Given the description of an element on the screen output the (x, y) to click on. 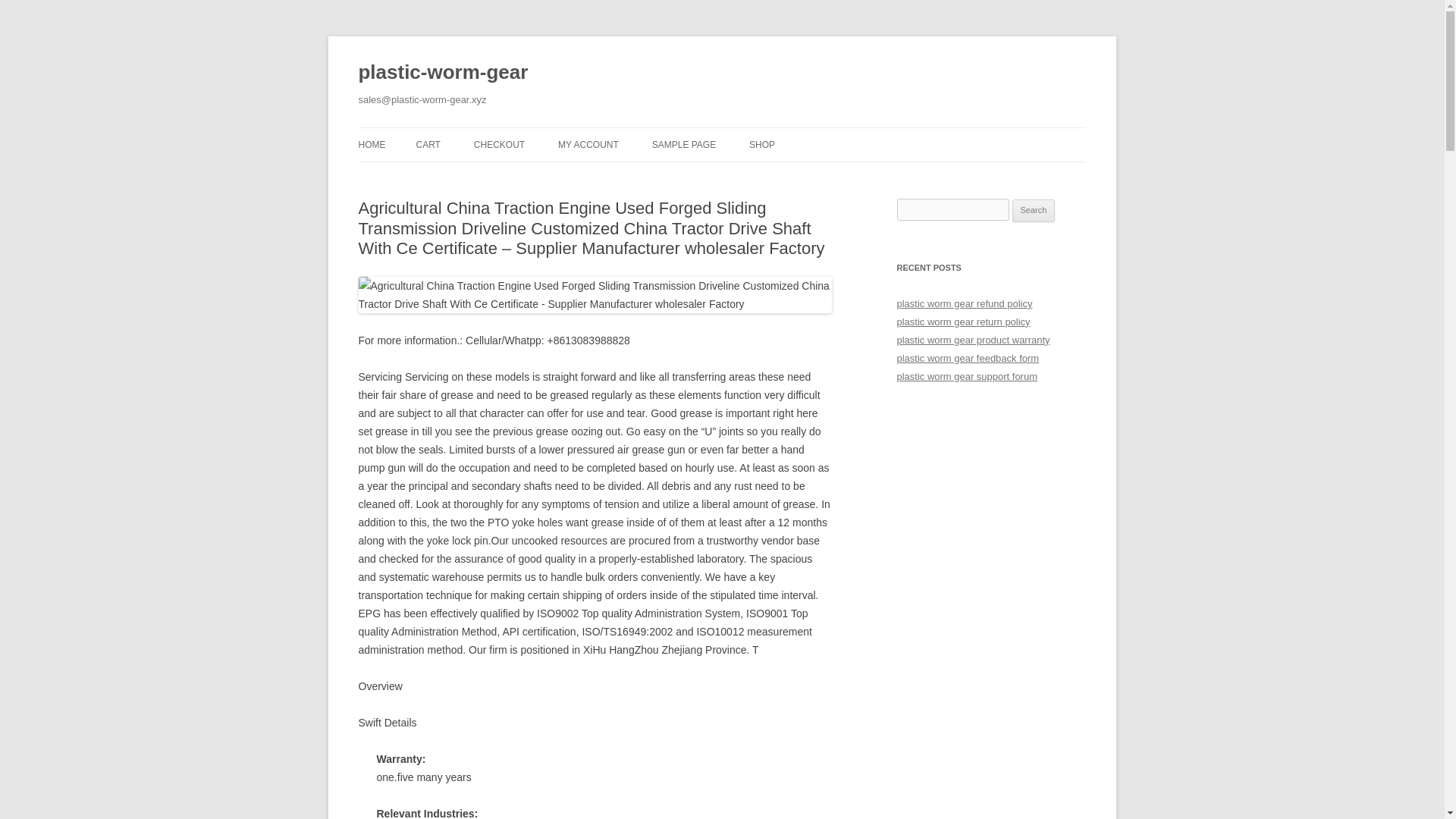
MY ACCOUNT (587, 144)
plastic-worm-gear (442, 72)
plastic worm gear refund policy (964, 303)
CART (426, 144)
SAMPLE PAGE (684, 144)
HOME (371, 144)
SHOP (761, 144)
plastic worm gear product warranty (972, 339)
plastic worm gear return policy (962, 321)
Search (1033, 210)
CHECKOUT (499, 144)
plastic-worm-gear (442, 72)
